Given the description of an element on the screen output the (x, y) to click on. 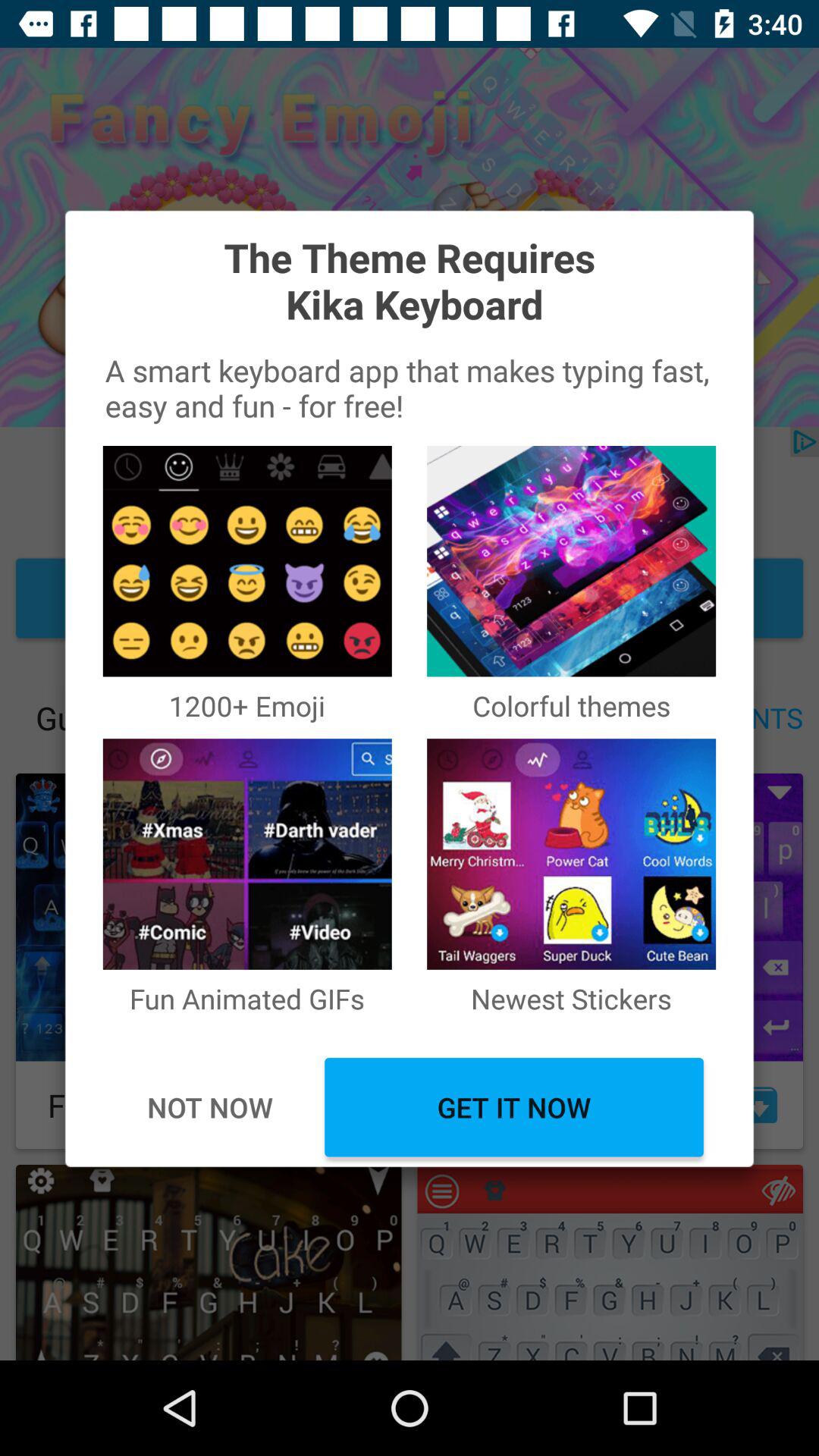
open icon next to get it now icon (209, 1106)
